Given the description of an element on the screen output the (x, y) to click on. 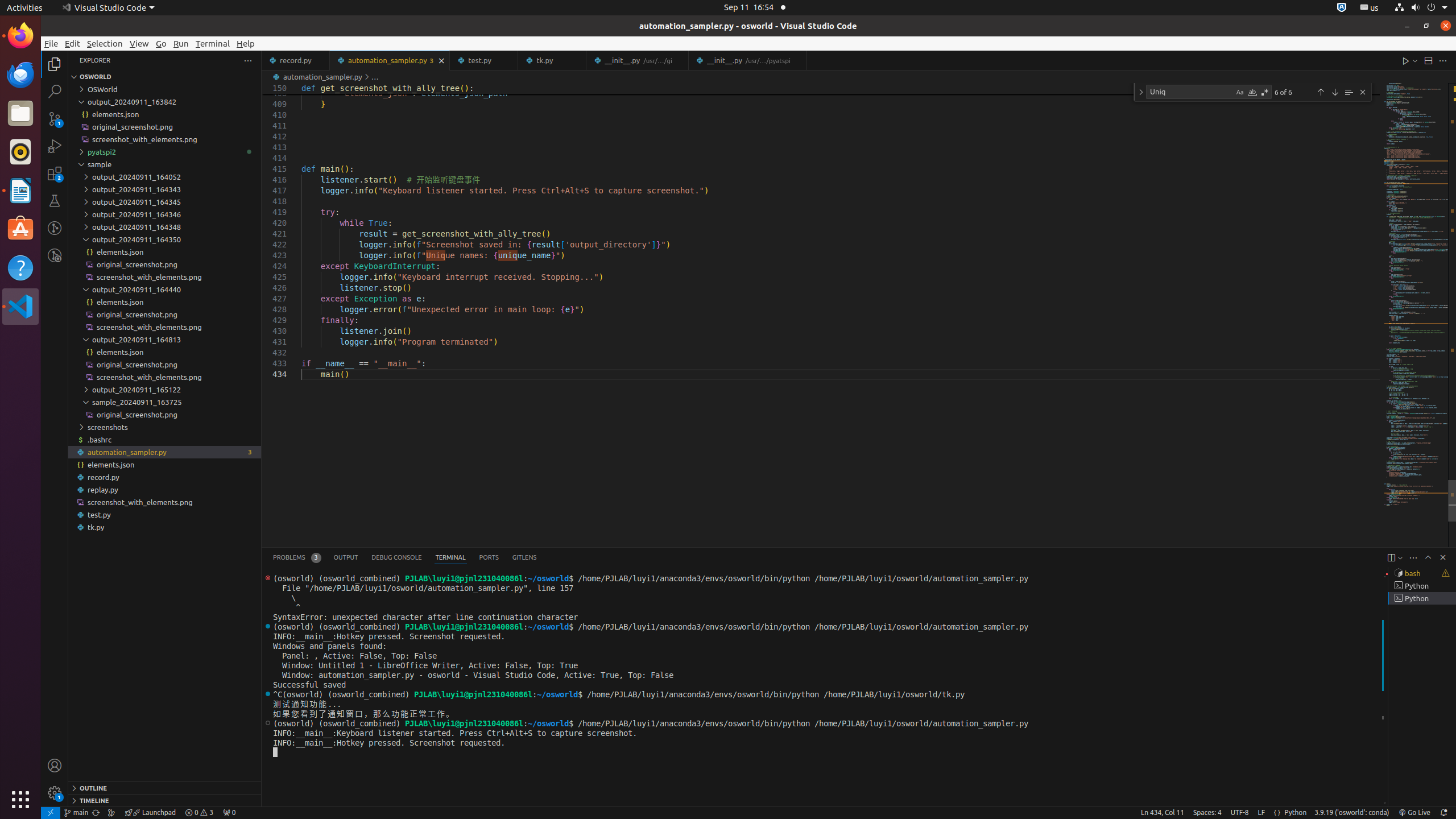
Launch Profile... Element type: push-button (1399, 557)
remote Element type: push-button (50, 812)
broadcast Go Live, Click to run live server Element type: push-button (1414, 812)
Views and More Actions... Element type: push-button (1413, 557)
def get_screenshot_with_ally_tree(): Element type: list-item (840, 88)
